Given the description of an element on the screen output the (x, y) to click on. 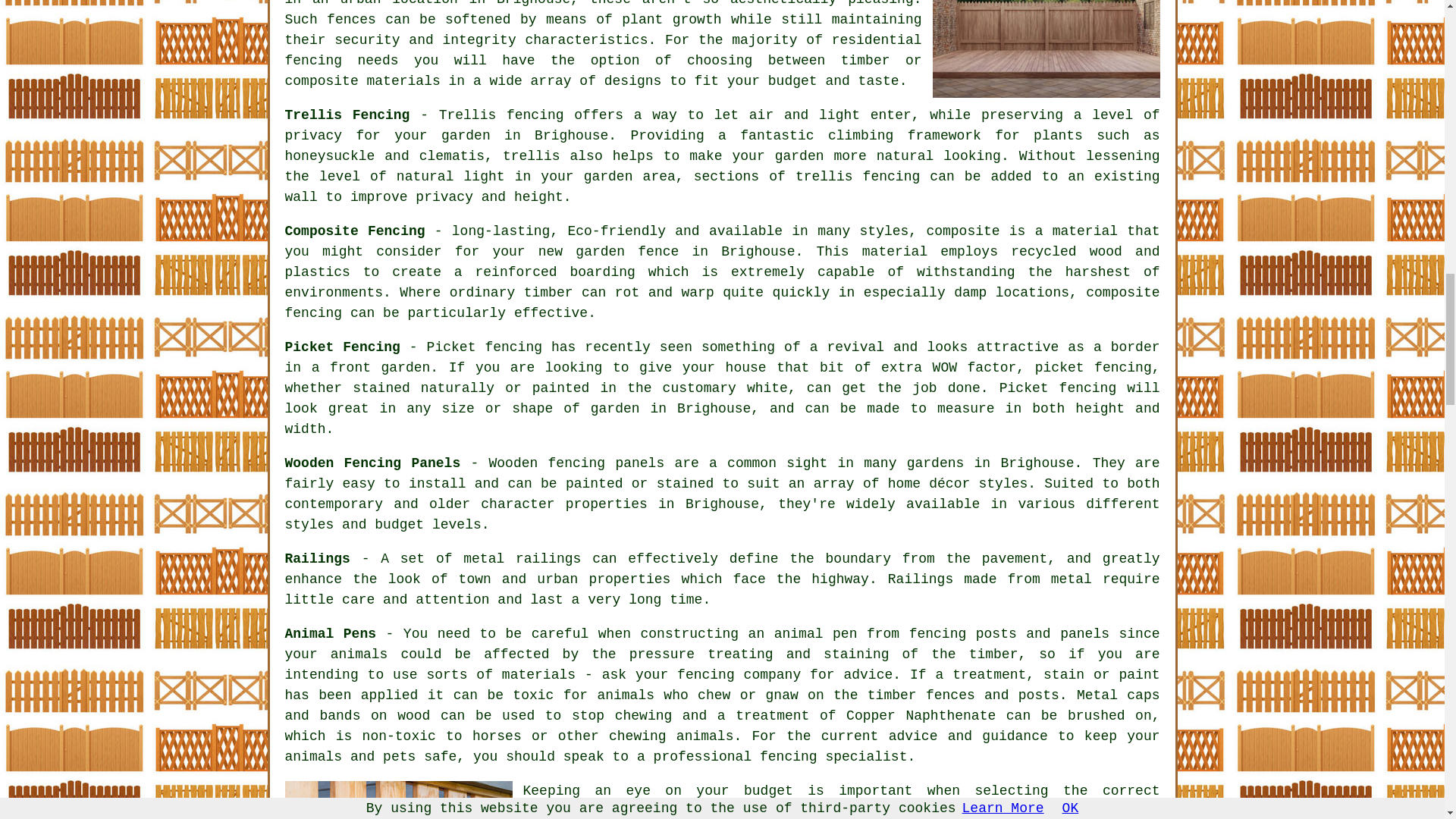
Painting Garden Fencing Brighouse (398, 800)
Garden Fencing Near Brighouse West Yorkshire (1046, 48)
